Given the description of an element on the screen output the (x, y) to click on. 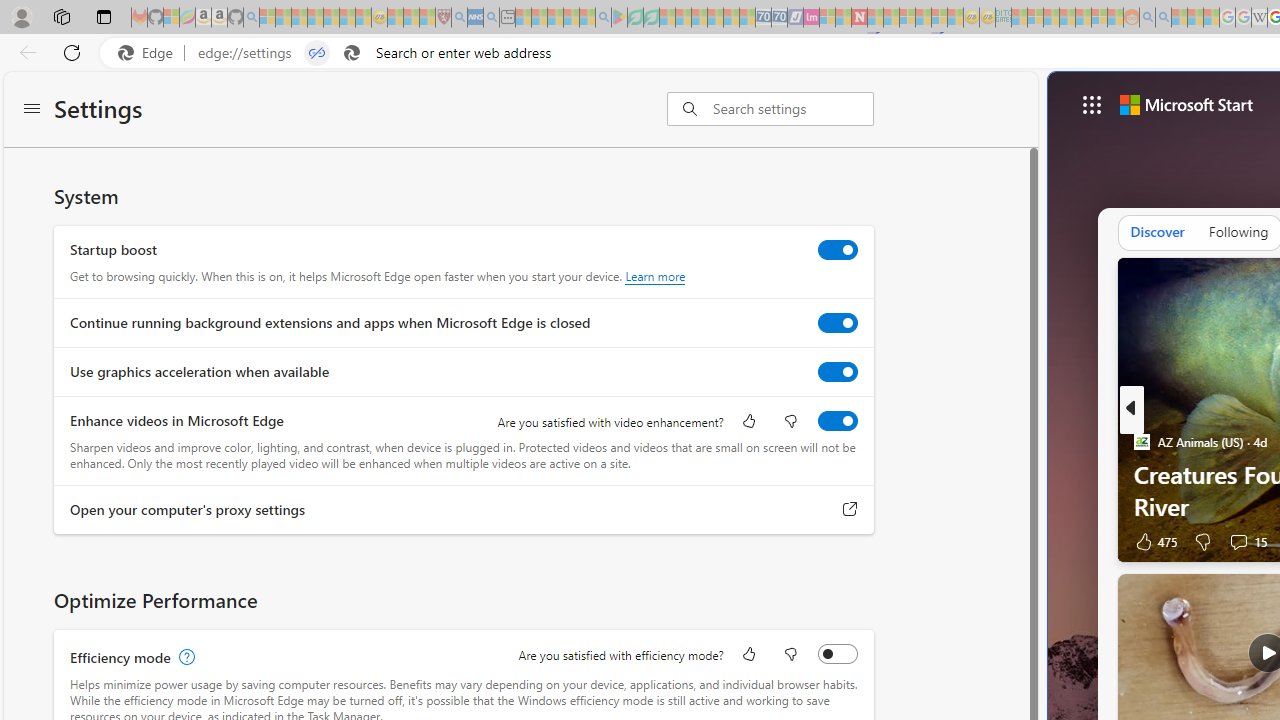
Target page - Wikipedia - Sleeping (1259, 17)
Edge (150, 53)
Settings menu (31, 110)
Local - MSN - Sleeping (427, 17)
